Given the description of an element on the screen output the (x, y) to click on. 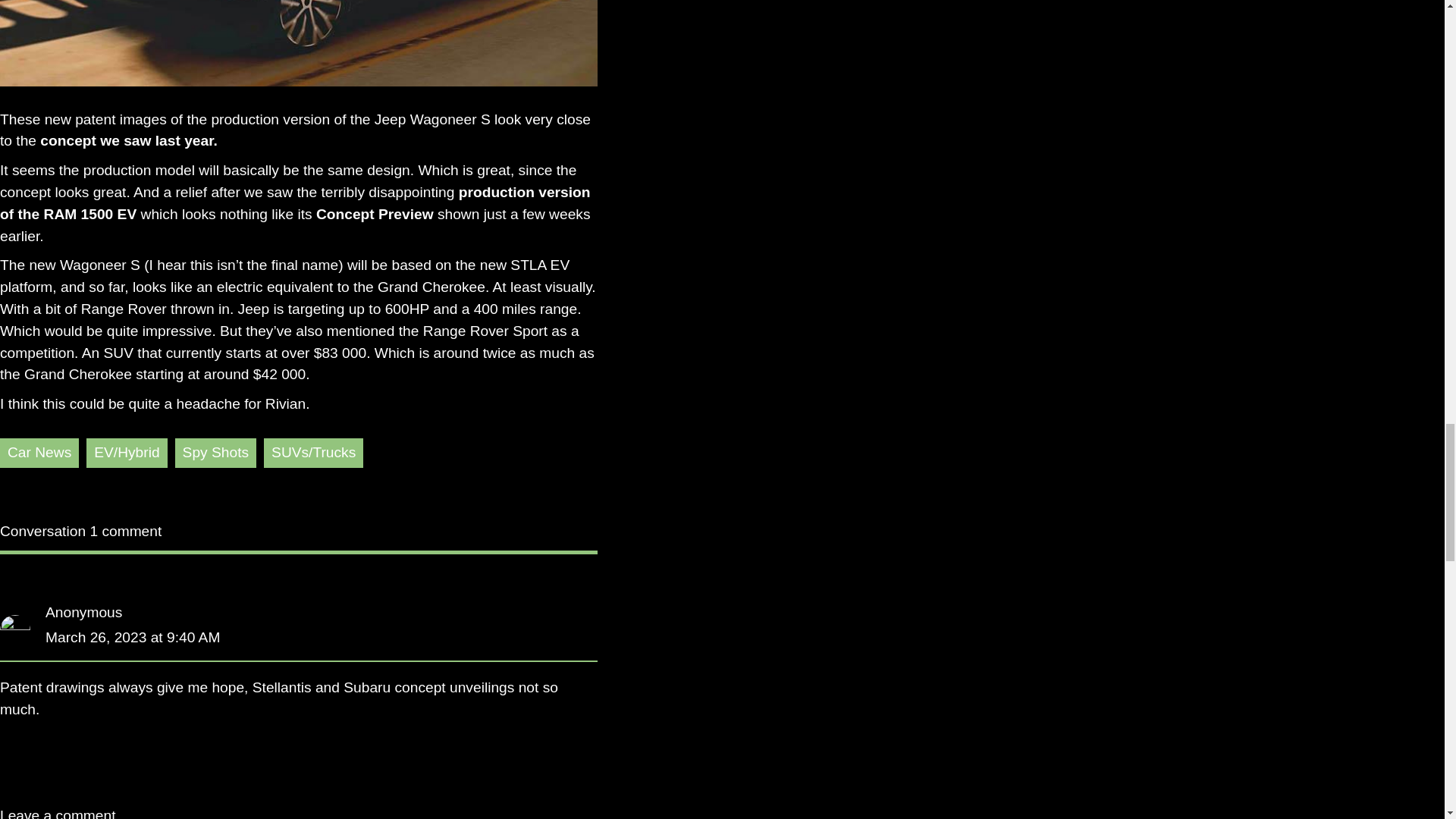
Car News (39, 452)
Spy Shots (215, 452)
Concept Preview (376, 213)
concept we saw last year. (128, 140)
March 26, 2023 at 9:40 AM (132, 637)
production version of the RAM 1500 EV (295, 202)
